Given the description of an element on the screen output the (x, y) to click on. 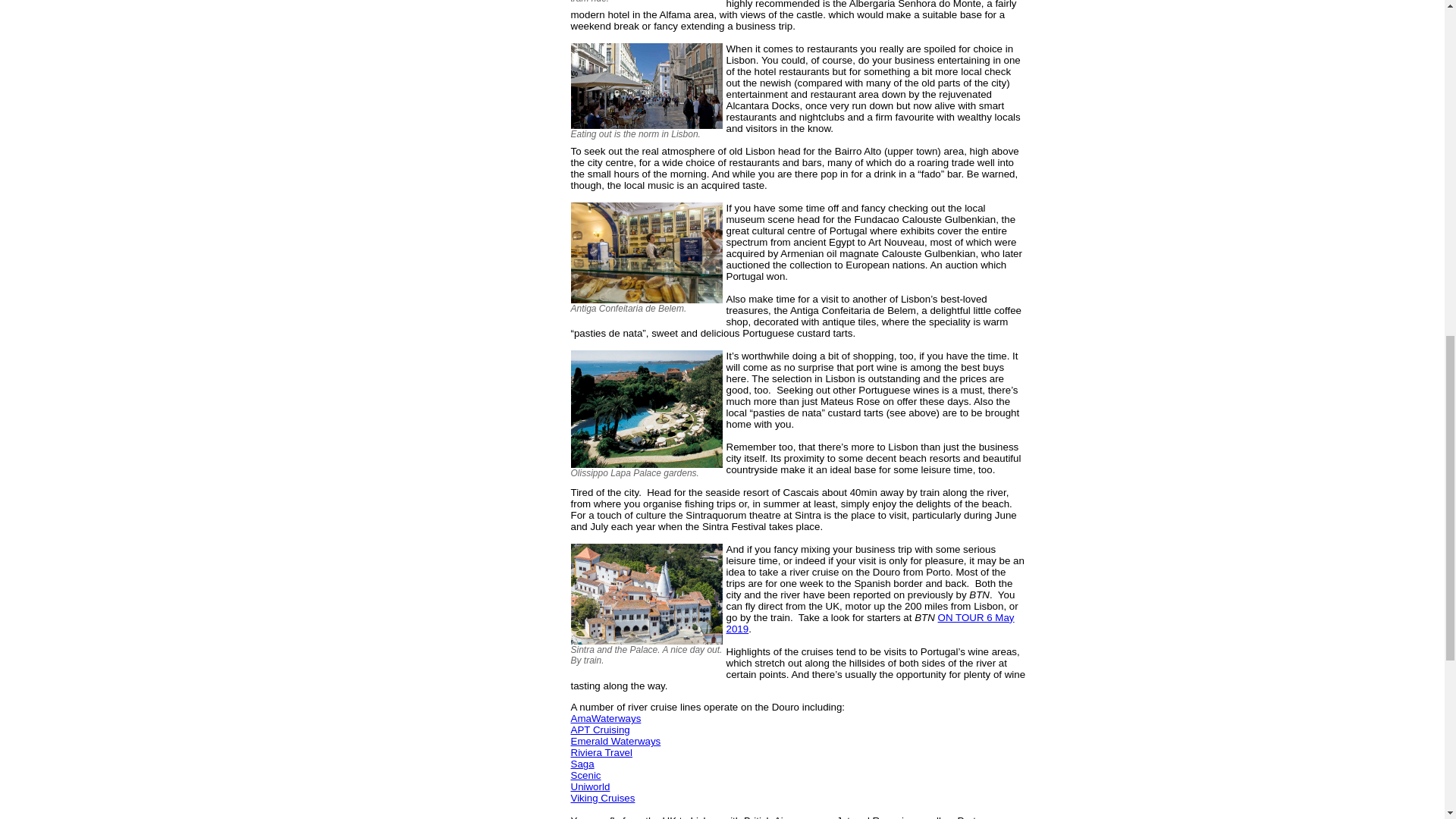
Eating out is the norm in Lisbon. (647, 85)
Sintra and the Palace. A nice day out. By train. (647, 593)
Olissippo Lapa Palace gardens. (647, 408)
Emerald Waterways (615, 740)
ON TOUR 6 May 2019 (870, 622)
Saga (582, 763)
AmaWaterways (605, 717)
Uniworld (590, 786)
Riviera Travel (600, 752)
Scenic (584, 775)
